Given the description of an element on the screen output the (x, y) to click on. 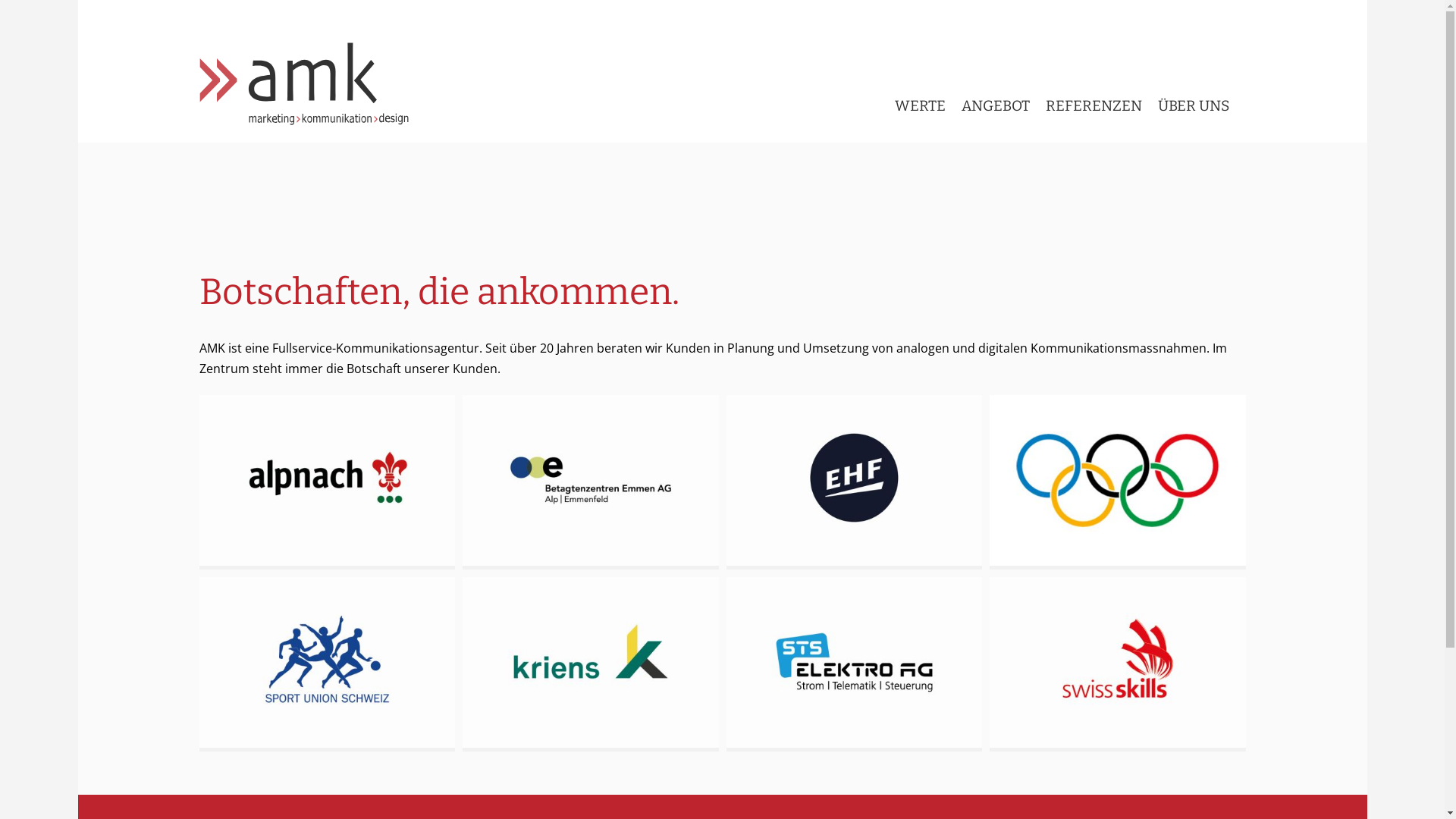
STS Elektro AG Element type: hover (854, 664)
REFERENZEN Element type: text (1093, 89)
ANGEBOT Element type: text (995, 89)
Betagtenzentrum Emmen Element type: hover (590, 482)
Allmendpark Element type: hover (326, 482)
Sportunion Schweiz Element type: hover (326, 664)
Olympische-Spiele Element type: hover (1117, 482)
Stadt Kriens Element type: hover (590, 664)
Swissskills Element type: hover (1117, 664)
WERTE Element type: text (919, 89)
EHF Element type: hover (854, 482)
